Given the description of an element on the screen output the (x, y) to click on. 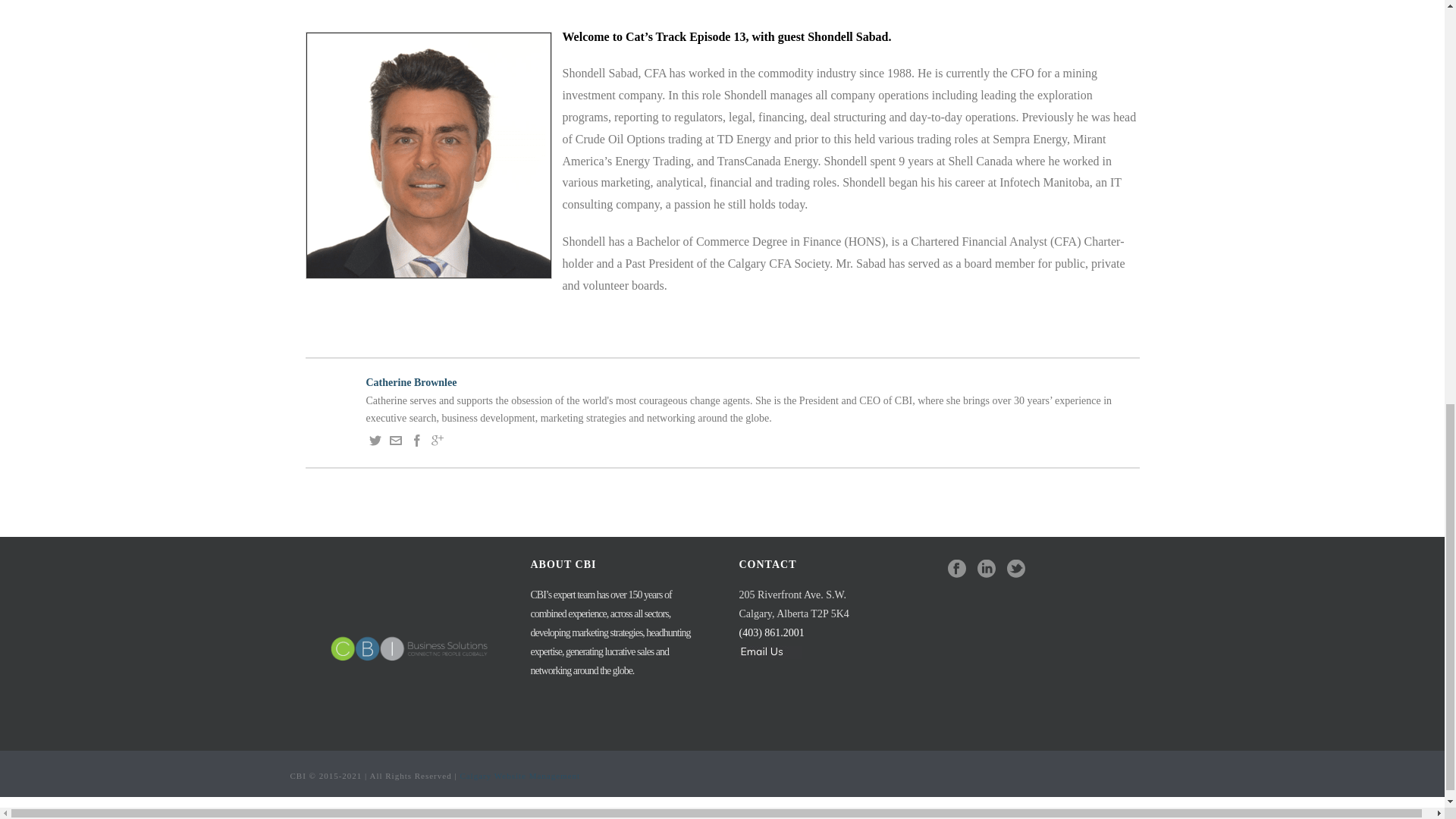
Follow me on Twitter (374, 442)
Join us Online facebook (956, 569)
Catherine Brownlee (721, 382)
Calgary Website Management (519, 775)
Follow me on Facebook (416, 442)
Get in touch with me via email (395, 442)
